Given the description of an element on the screen output the (x, y) to click on. 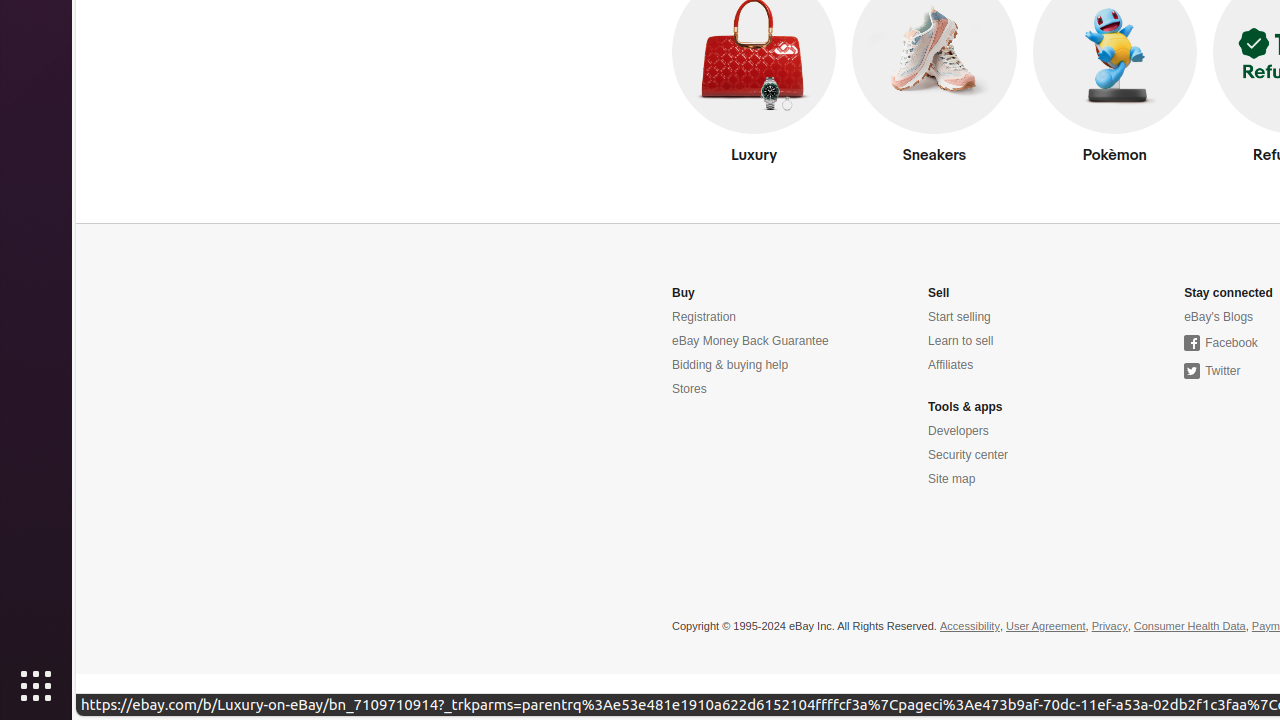
Show Applications Element type: toggle-button (36, 686)
eBay Money Back Guarantee Element type: link (750, 341)
Stores Element type: link (689, 389)
Buy Element type: link (683, 293)
Learn to sell Element type: link (961, 341)
